Given the description of an element on the screen output the (x, y) to click on. 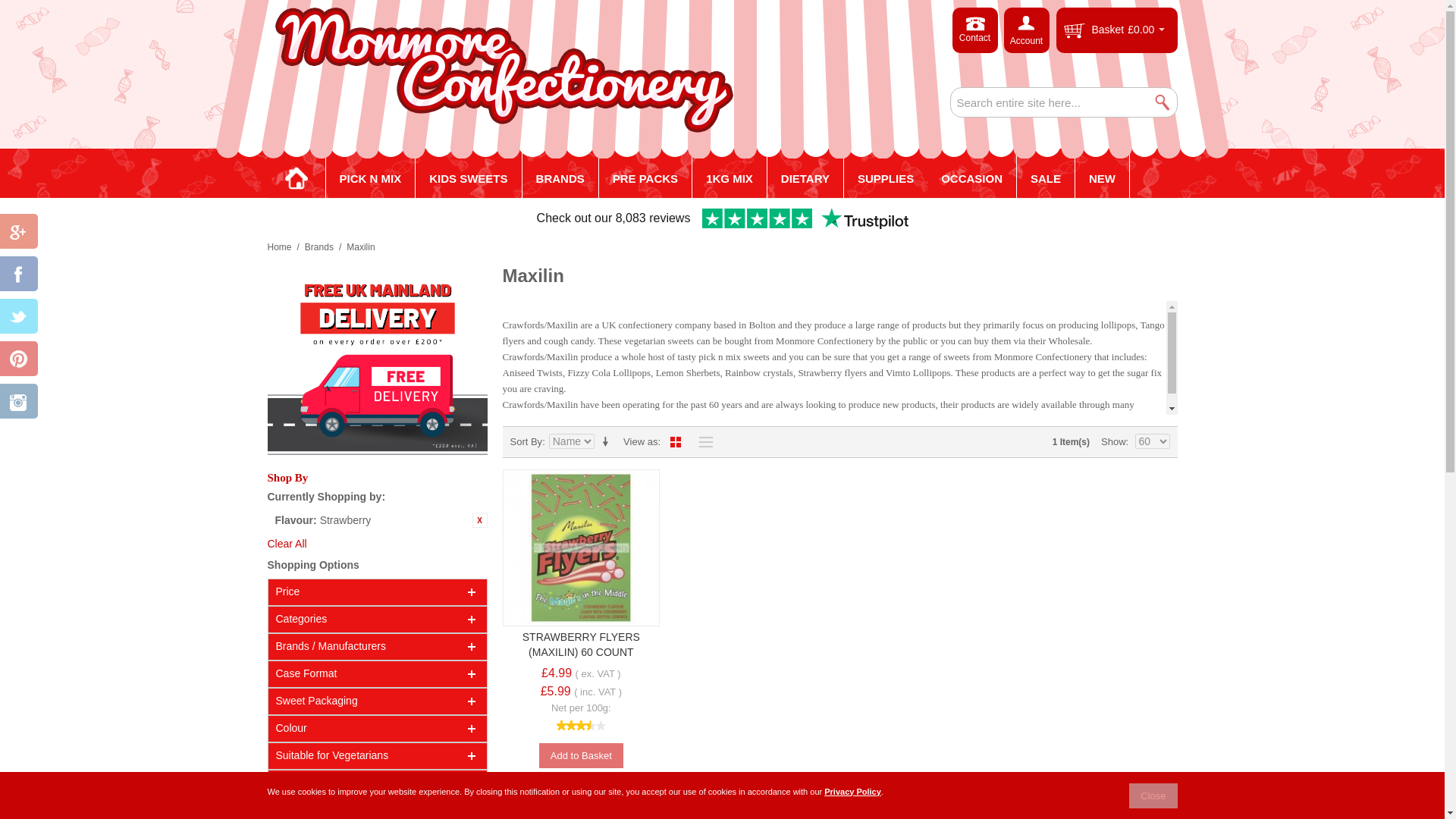
Go to Home Page (278, 246)
Customer reviews powered by Trustpilot (721, 218)
Follow us on twitter (18, 316)
Account (1026, 30)
PICK N MIX (370, 178)
Remove This Item (478, 519)
KIDS SWEETS (467, 178)
Follow us on Instagram (18, 401)
Minimum Spend for Free Delivery (376, 363)
Contact (974, 30)
Search (1161, 101)
Grid (675, 441)
Like us on Facebook (18, 274)
Follow us on Pinterest (18, 359)
